Given the description of an element on the screen output the (x, y) to click on. 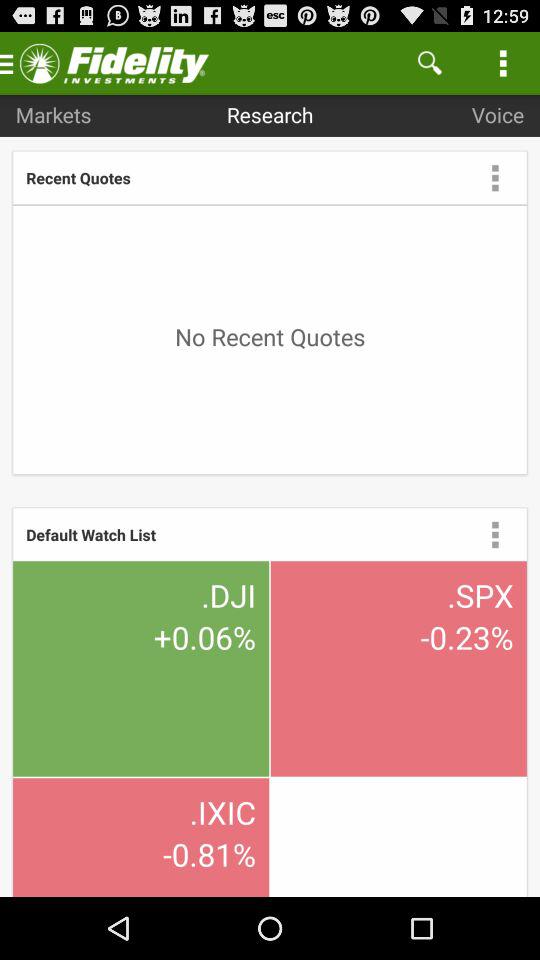
turn off app next to the research (53, 114)
